Given the description of an element on the screen output the (x, y) to click on. 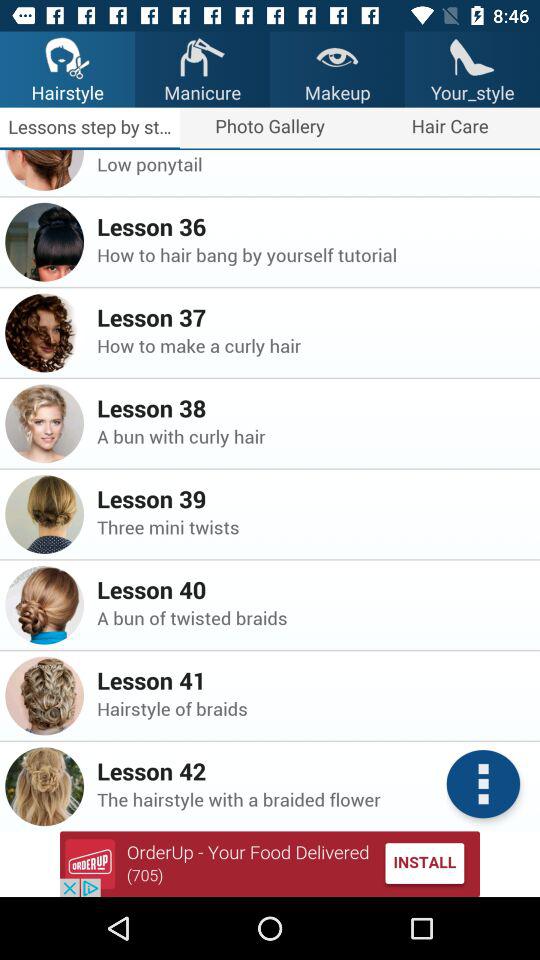
click for more styles (483, 784)
